Given the description of an element on the screen output the (x, y) to click on. 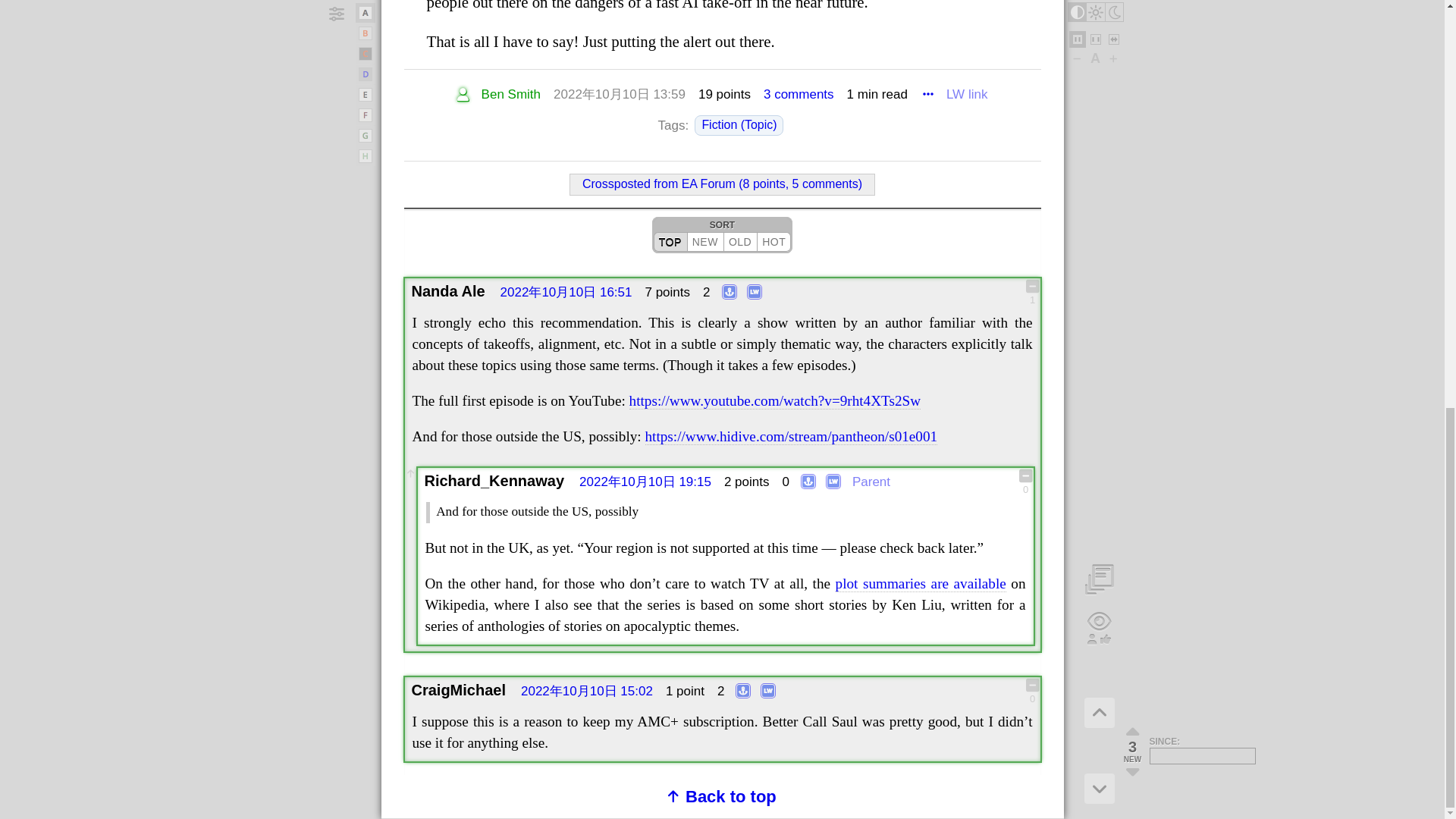
LW link (966, 95)
3 comments (798, 95)
Sort by top (670, 241)
0 words (877, 95)
Sort by old (740, 241)
5 votes (667, 292)
9 votes (724, 93)
Ben Smith (510, 95)
Sort by hot (773, 241)
TOP (670, 241)
